Given the description of an element on the screen output the (x, y) to click on. 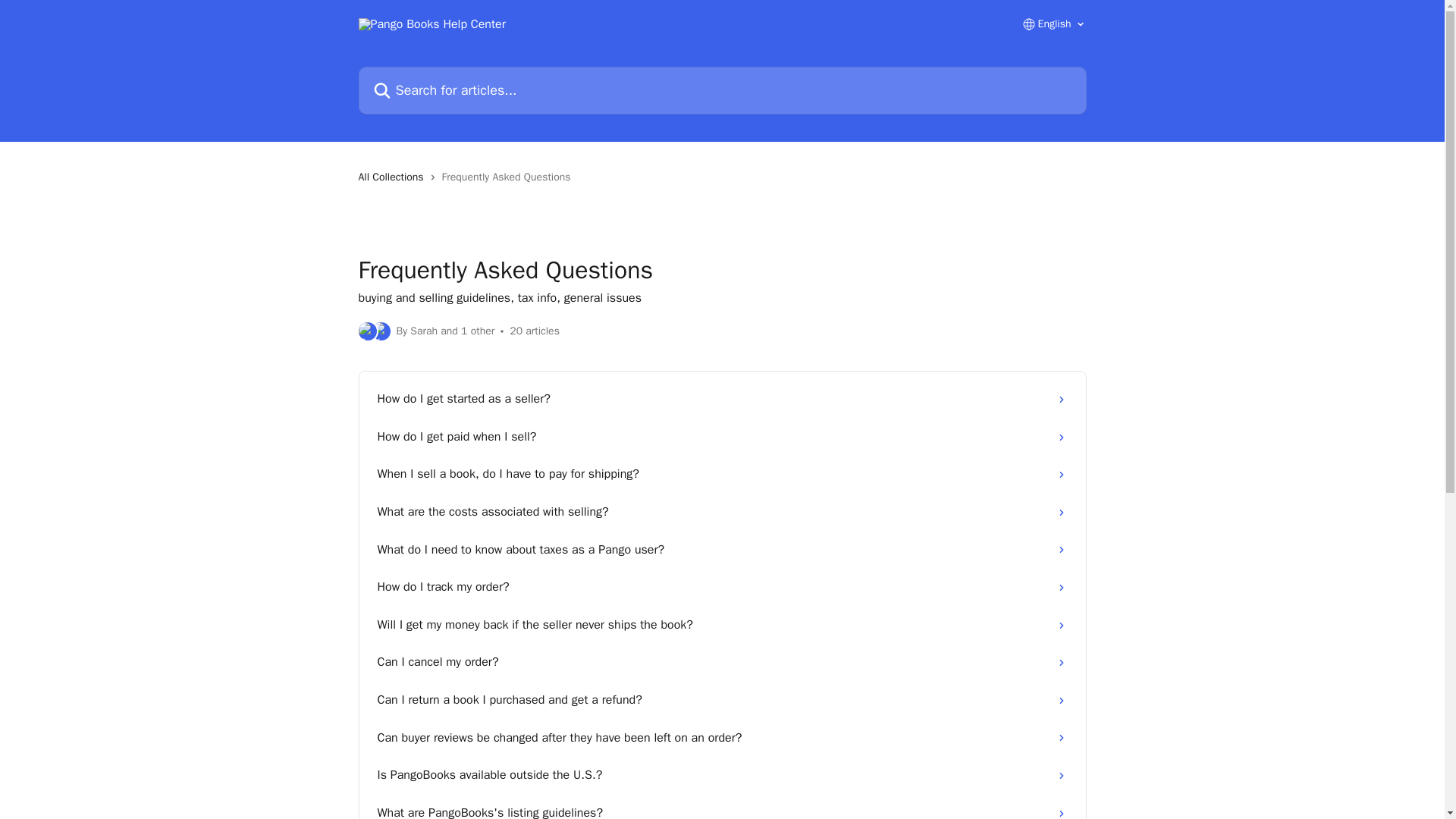
How do I get paid when I sell? (722, 437)
How do I get started as a seller? (722, 399)
Is PangoBooks available outside the U.S.? (722, 775)
What are PangoBooks's listing guidelines? (722, 806)
What are the costs associated with selling? (722, 512)
Can I return a book I purchased and get a refund? (722, 700)
Can I cancel my order? (722, 662)
What do I need to know about taxes as a Pango user? (722, 550)
All Collections (393, 176)
Will I get my money back if the seller never ships the book? (722, 625)
When I sell a book, do I have to pay for shipping? (722, 474)
How do I track my order? (722, 587)
